Given the description of an element on the screen output the (x, y) to click on. 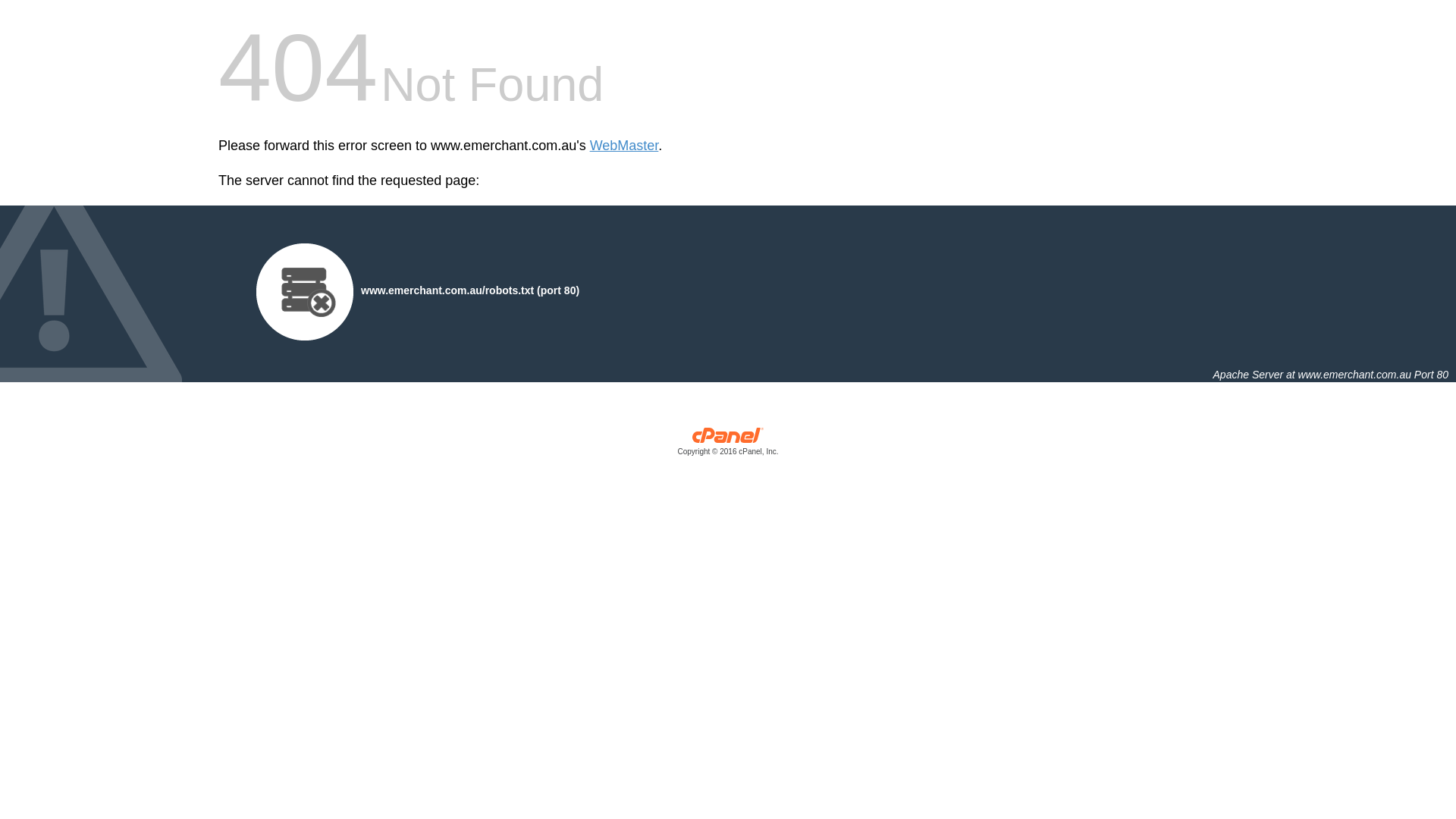
WebMaster Element type: text (623, 145)
